Given the description of an element on the screen output the (x, y) to click on. 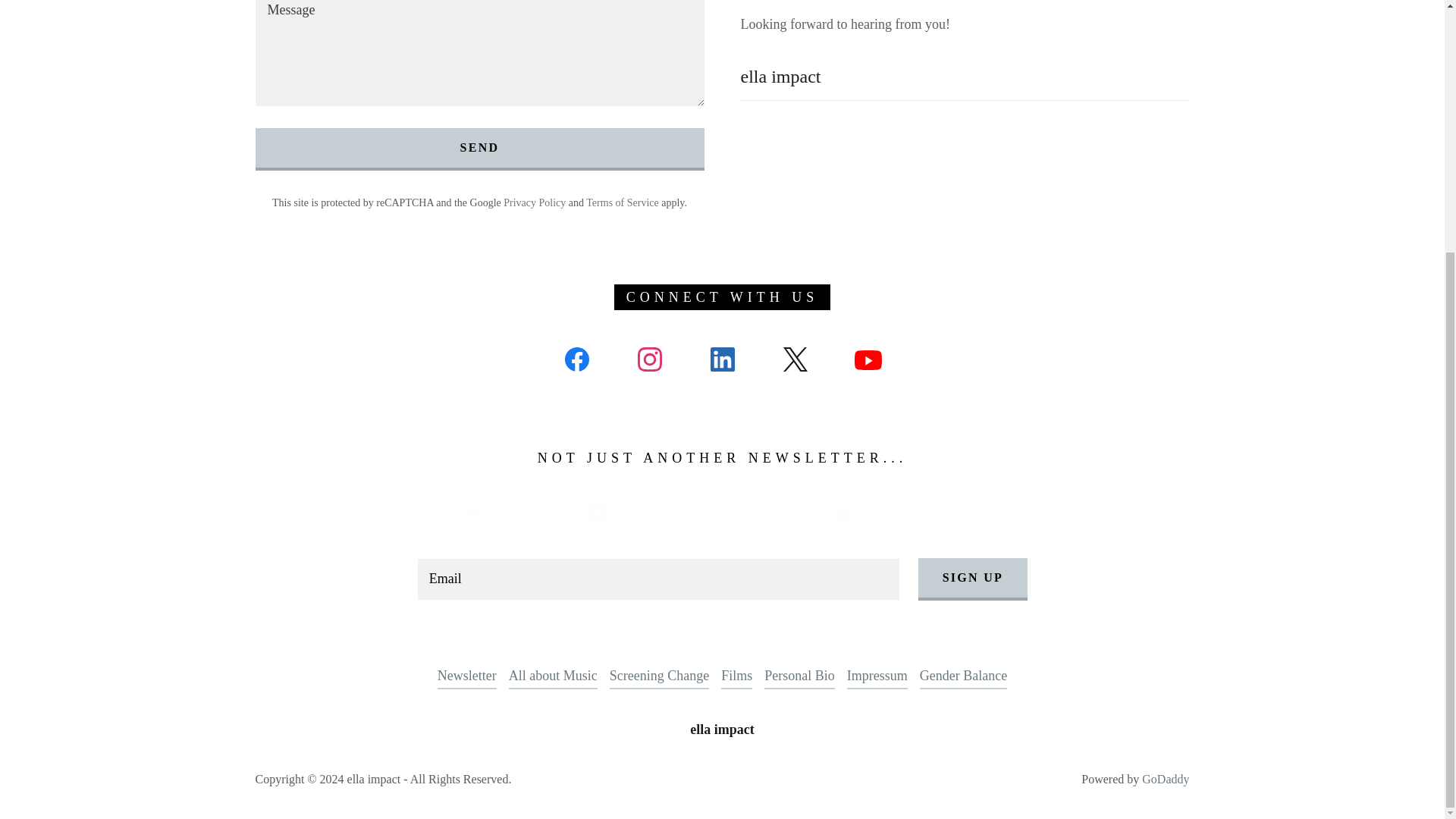
SIGN UP (972, 578)
SEND (478, 148)
Terms of Service (622, 202)
Privacy Policy (534, 202)
